Given the description of an element on the screen output the (x, y) to click on. 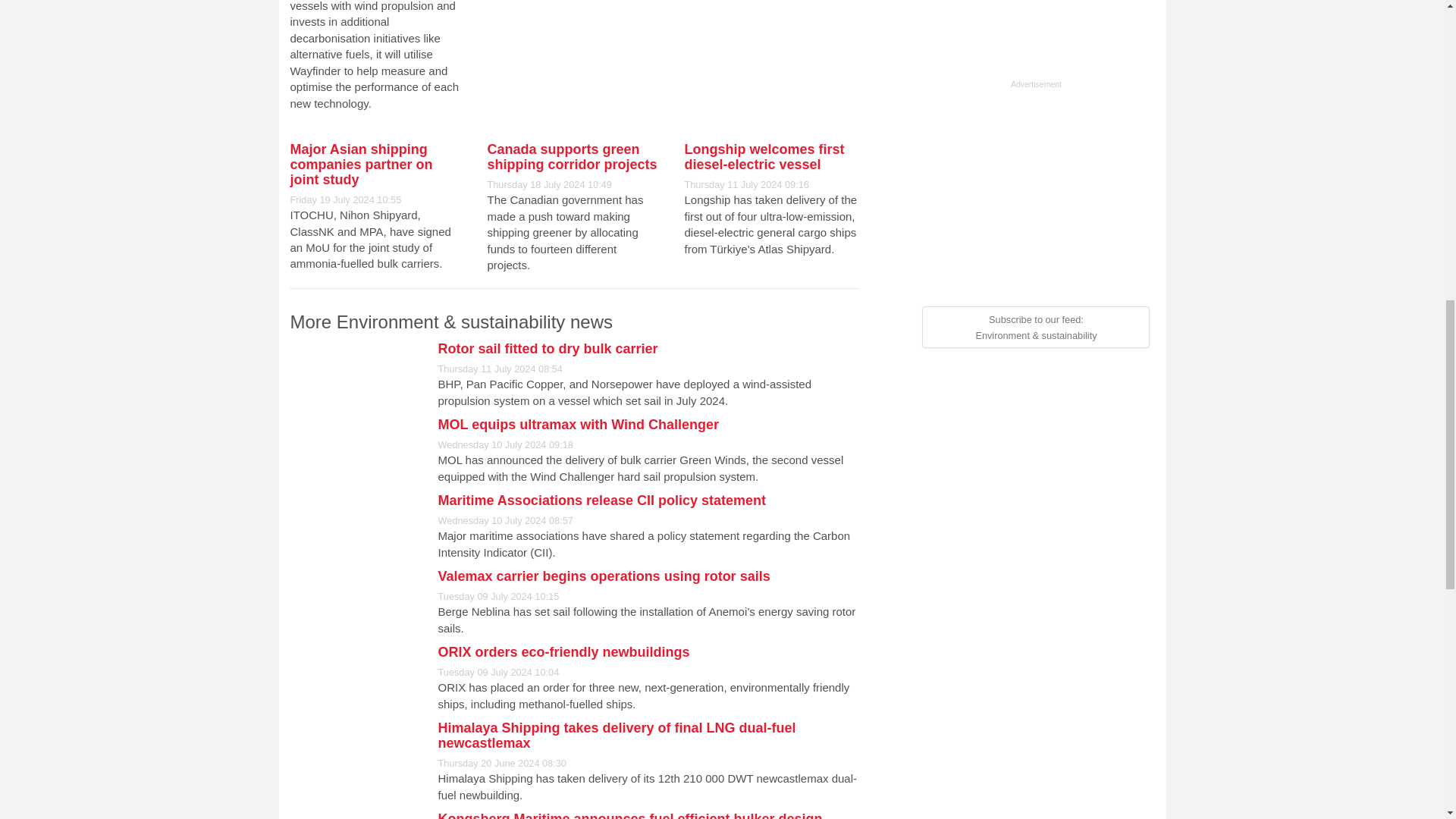
Major Asian shipping companies partner on joint study (360, 164)
Canada supports green shipping corridor projects (571, 156)
MOL equips ultramax with Wind Challenger (578, 424)
Longship welcomes first diesel-electric vessel (764, 156)
Rotor sail fitted to dry bulk carrier (548, 348)
